Given the description of an element on the screen output the (x, y) to click on. 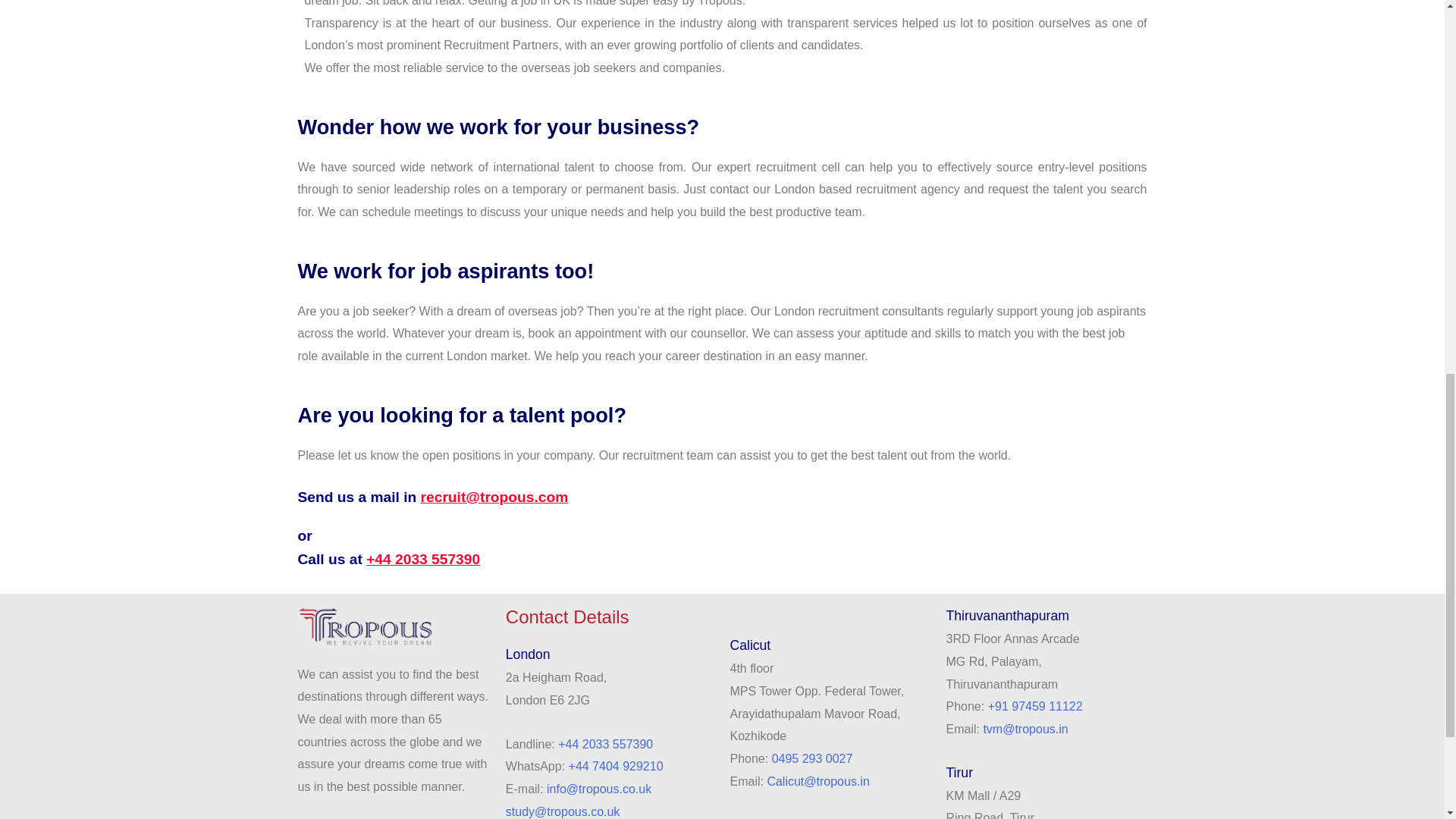
0495 293 0027 (812, 758)
